Given the description of an element on the screen output the (x, y) to click on. 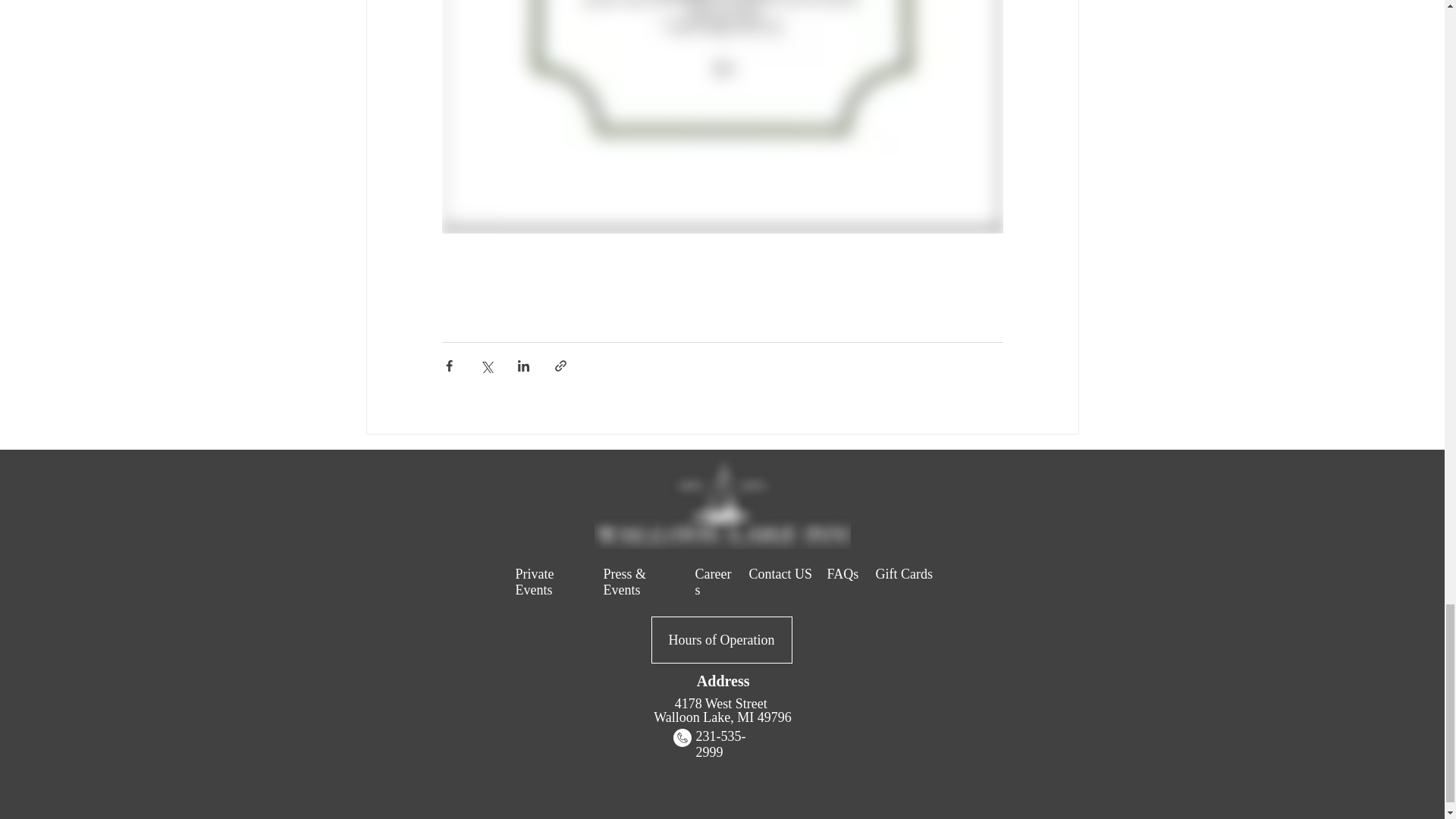
4178 West Street  (723, 703)
Careers (712, 581)
MI 49796 (764, 717)
Hours of Operation (721, 639)
Private Events (534, 581)
231-535-2999 (720, 744)
Contact US (780, 573)
Gift Cards (904, 573)
Walloon Lake,  (694, 717)
